Given the description of an element on the screen output the (x, y) to click on. 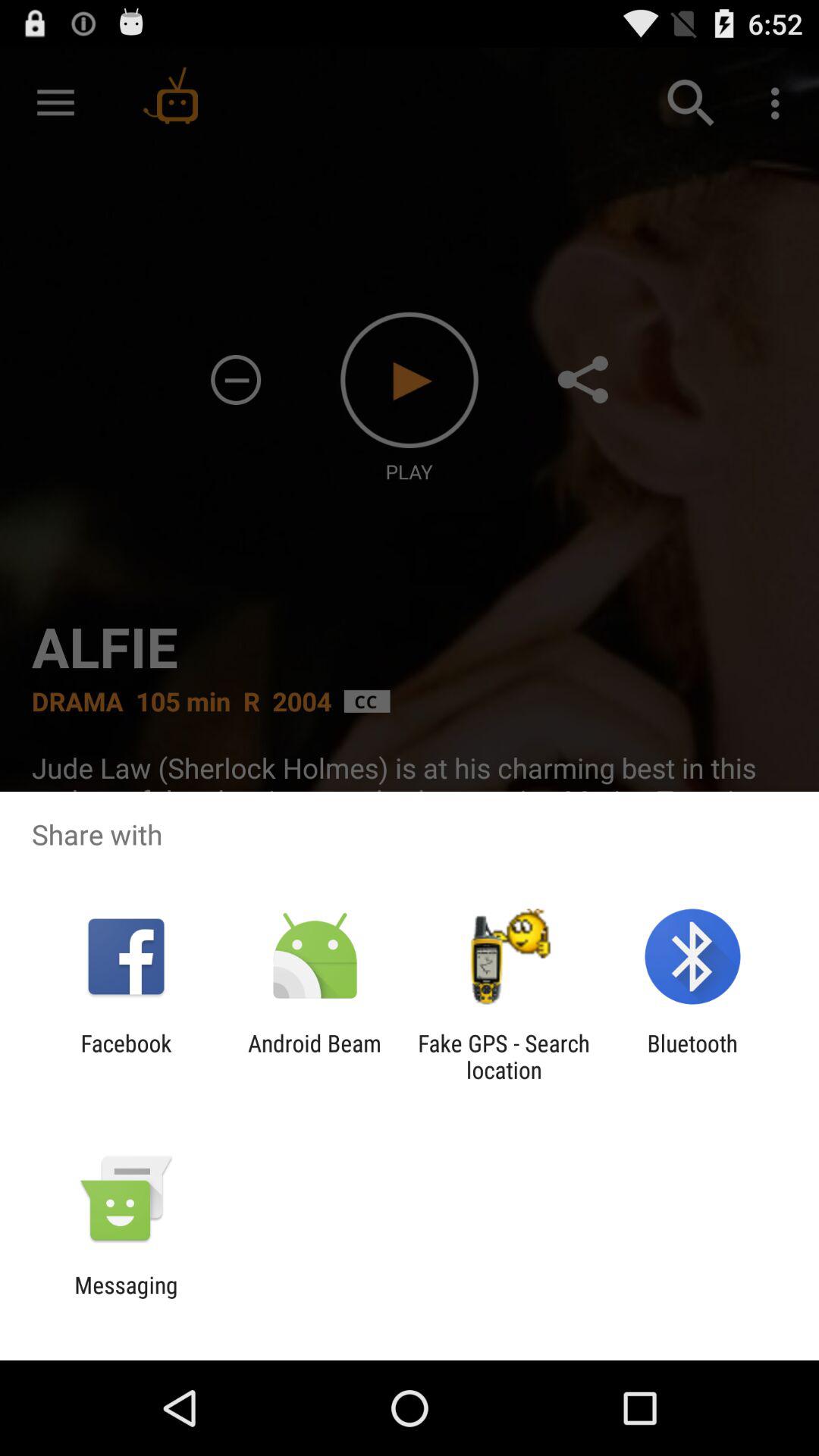
flip until the fake gps search item (503, 1056)
